Given the description of an element on the screen output the (x, y) to click on. 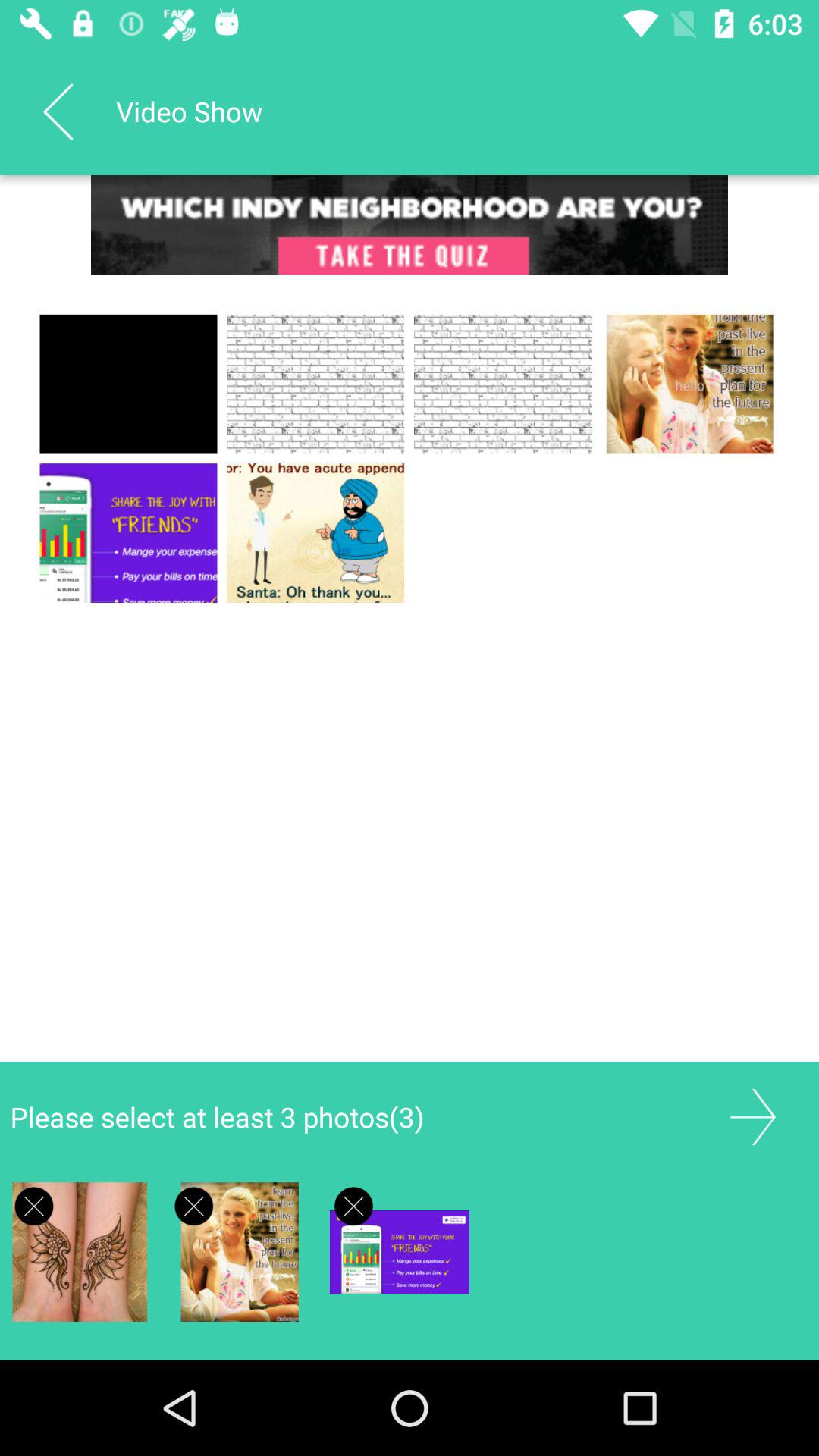
off (353, 1206)
